Given the description of an element on the screen output the (x, y) to click on. 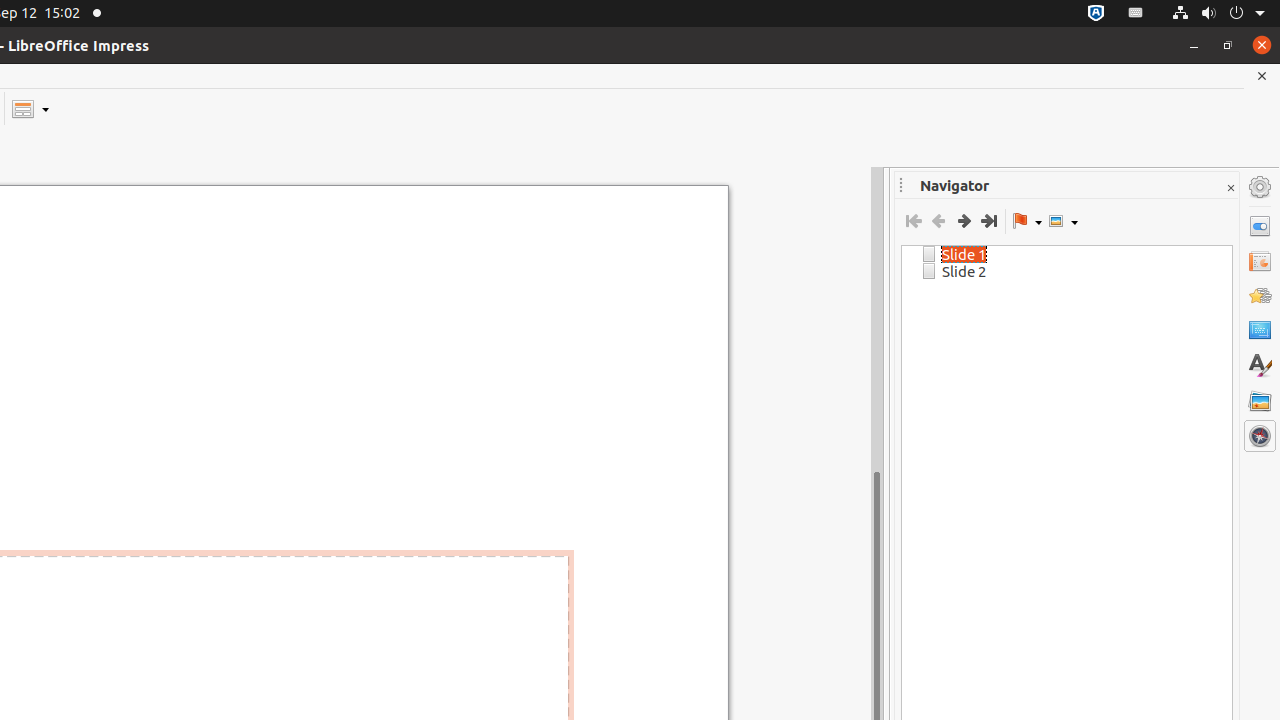
Gallery Element type: radio-button (1260, 401)
Navigator Element type: radio-button (1260, 436)
Show Shapes Element type: push-button (1063, 221)
Next Slide Element type: push-button (963, 221)
First Slide Element type: push-button (913, 221)
